Given the description of an element on the screen output the (x, y) to click on. 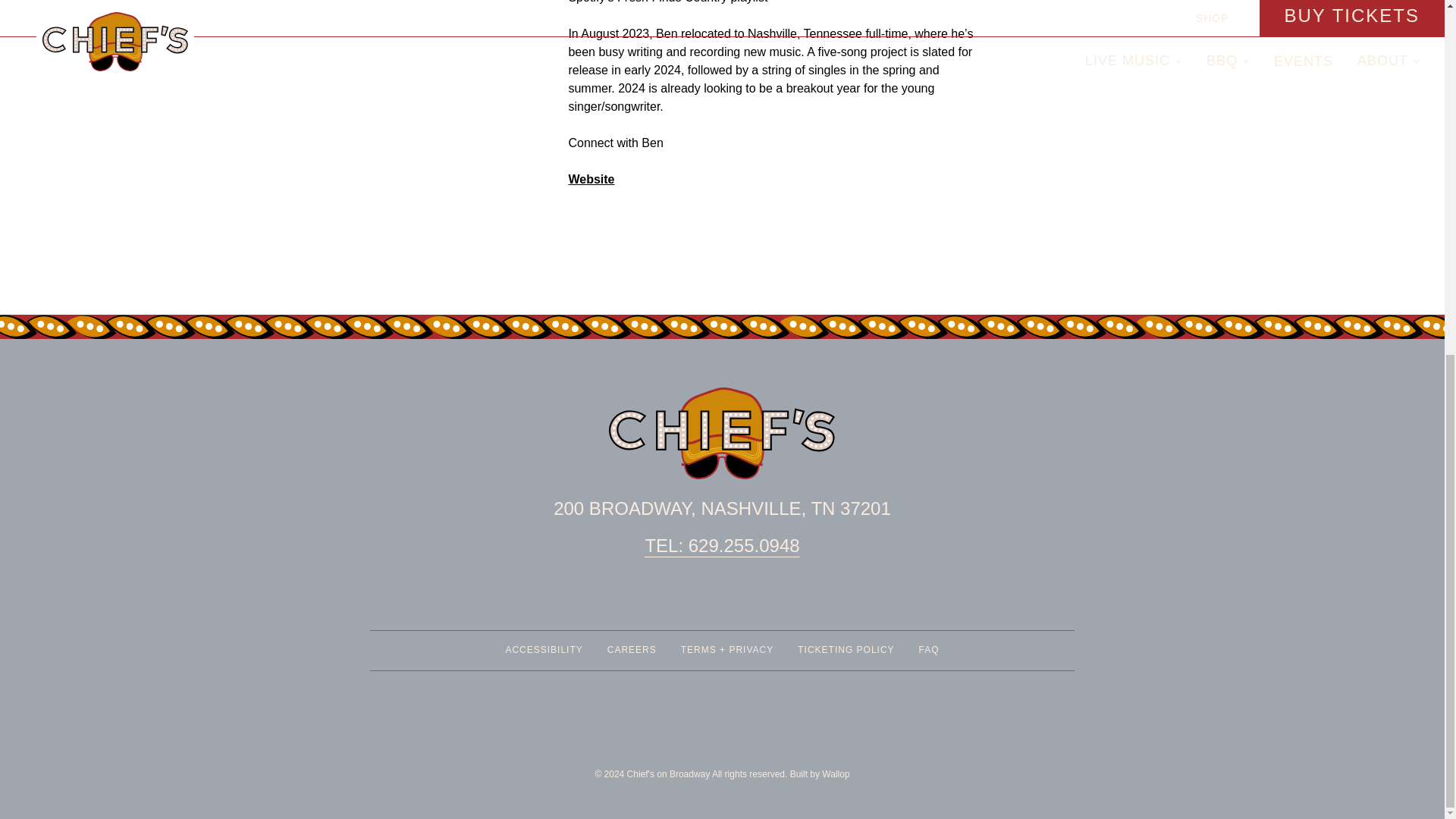
TICKETING POLICY (845, 650)
View Instagram page in a new tab. (740, 599)
ACCESSIBILITY (543, 650)
Website (590, 178)
View Facebook page in a new tab. (631, 650)
Return to homepage (703, 599)
